Given the description of an element on the screen output the (x, y) to click on. 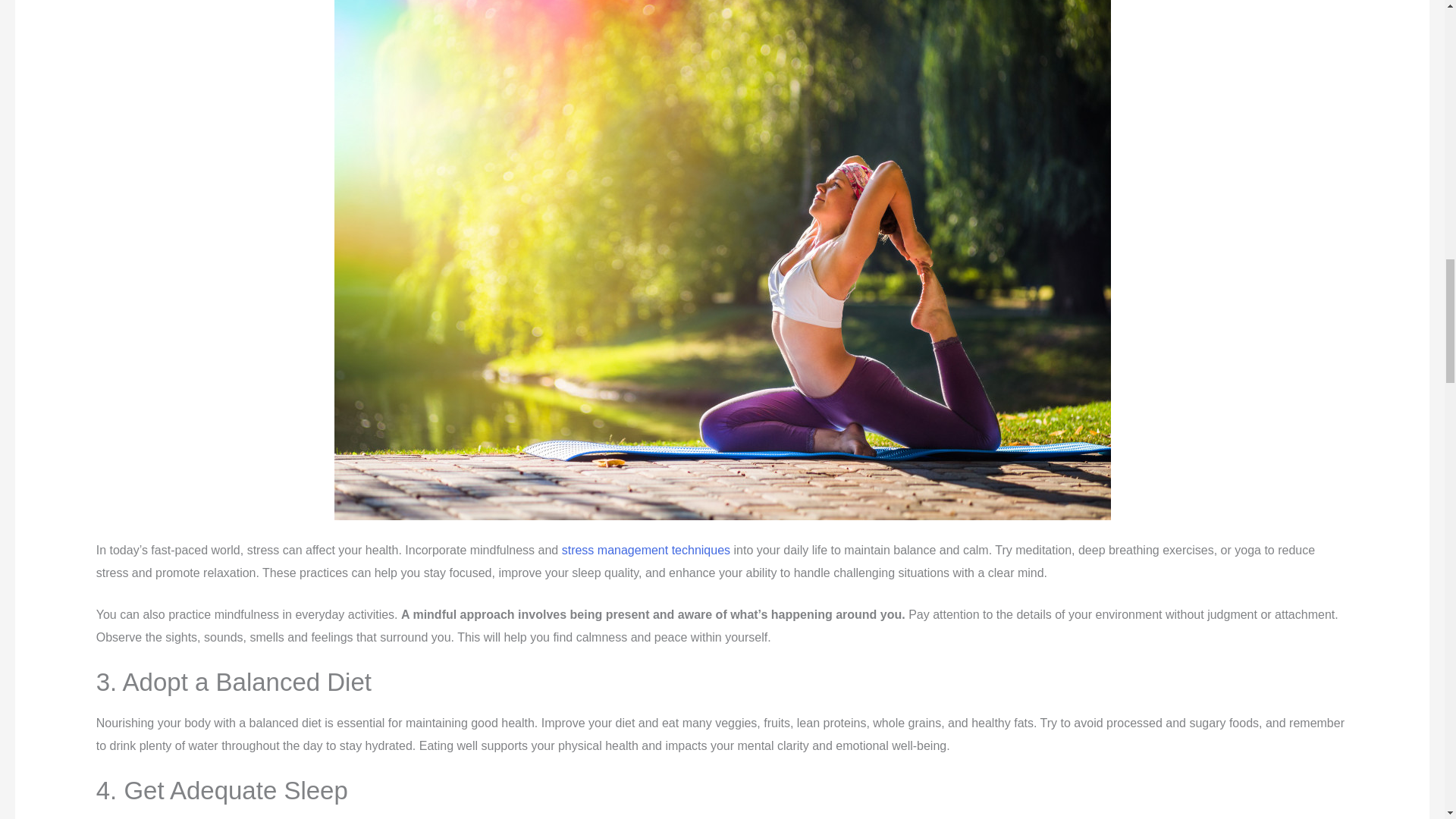
stress management techniques (646, 549)
